Given the description of an element on the screen output the (x, y) to click on. 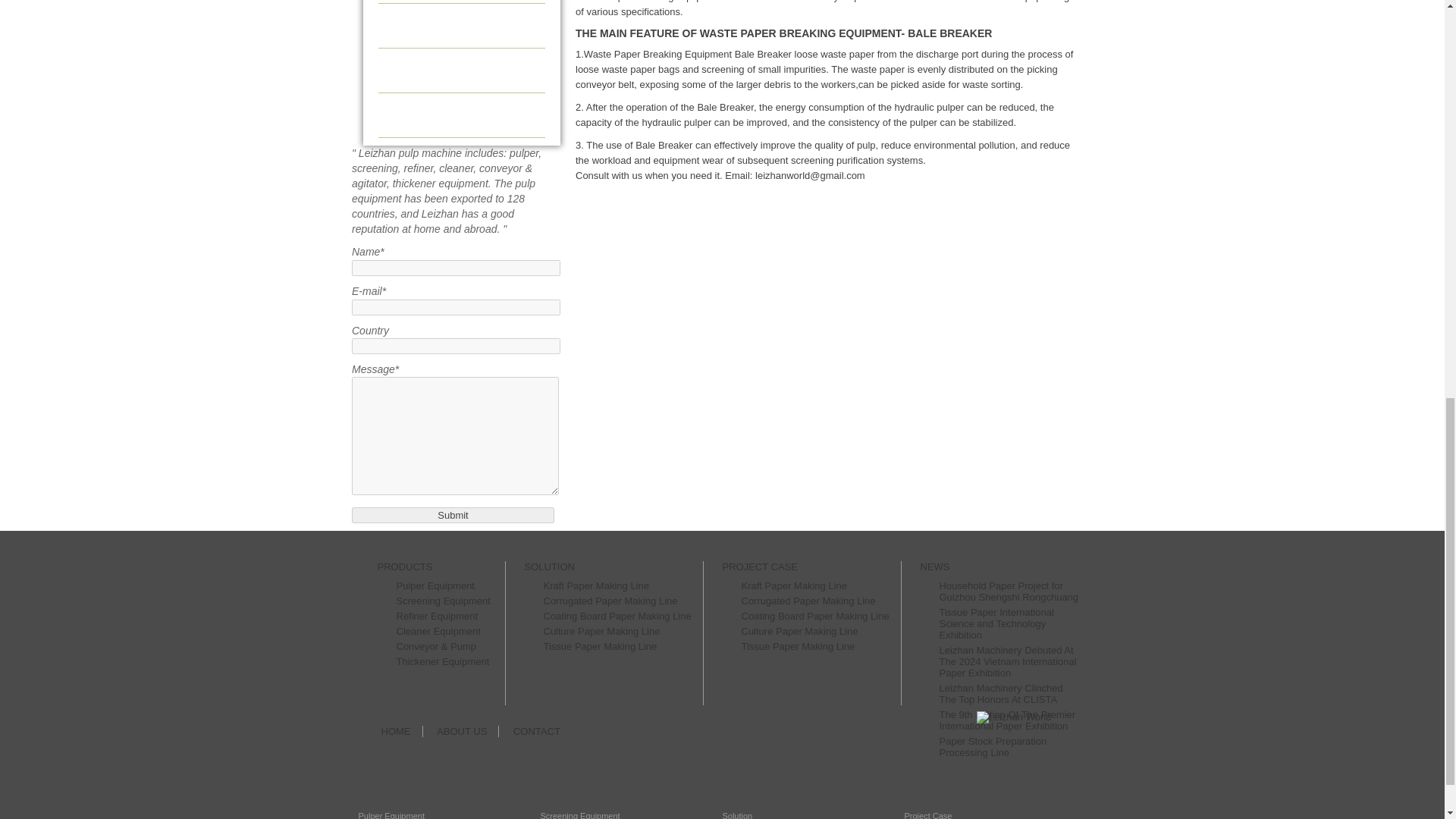
Crescent Former Tissue Machine Technology (461, 2)
Submit (453, 514)
Submit (453, 514)
Grade Fluting Paper Plant Machinery (461, 70)
Introducing Our Revolutionary Hydraulic Pulper (461, 115)
Industry-Leading High-Speed Stock Washer (461, 26)
